Given the description of an element on the screen output the (x, y) to click on. 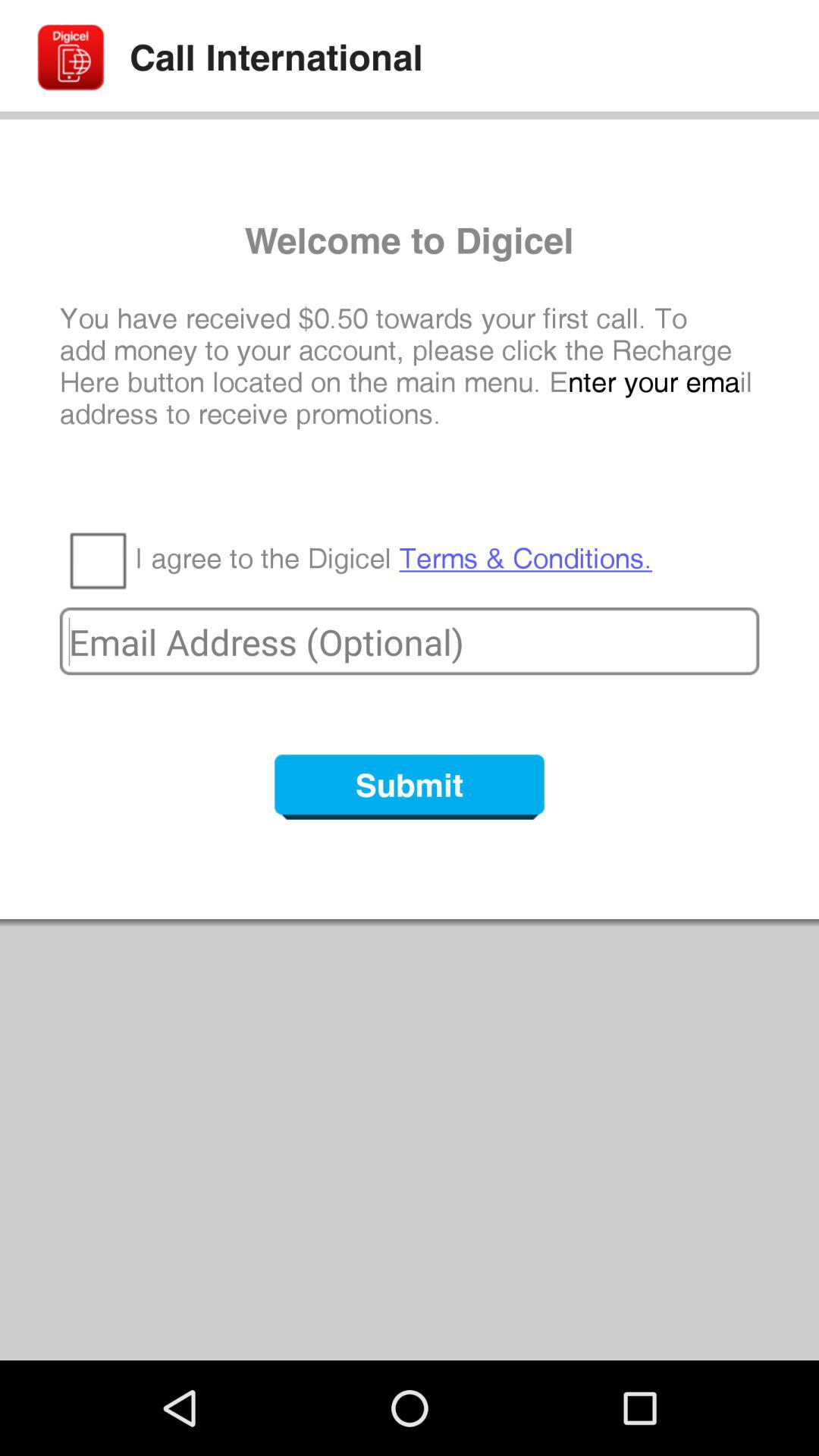
launch the app below the you have received icon (97, 559)
